Given the description of an element on the screen output the (x, y) to click on. 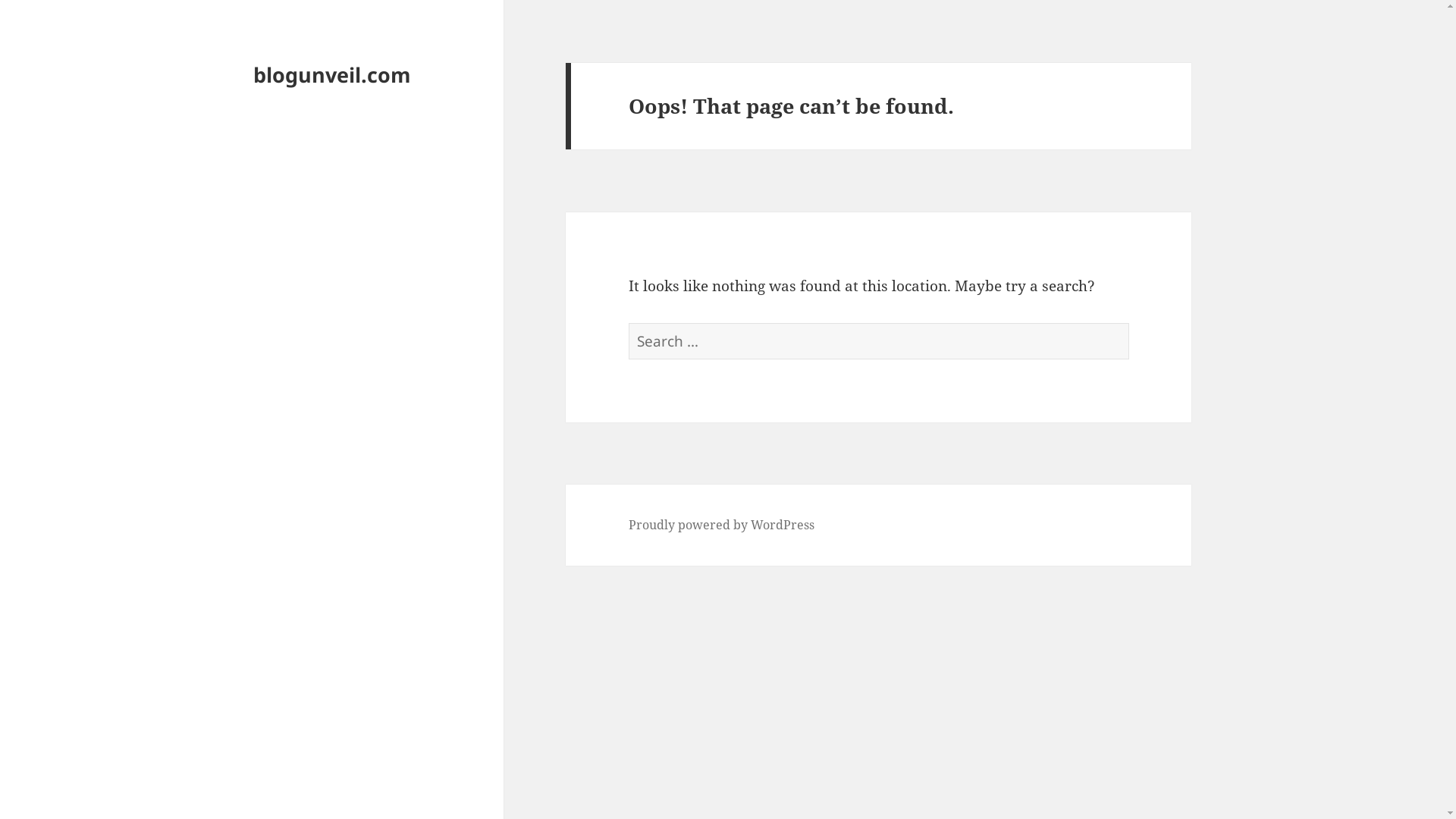
blogunveil.com Element type: text (332, 74)
Proudly powered by WordPress Element type: text (721, 524)
Search Element type: text (1128, 322)
